Given the description of an element on the screen output the (x, y) to click on. 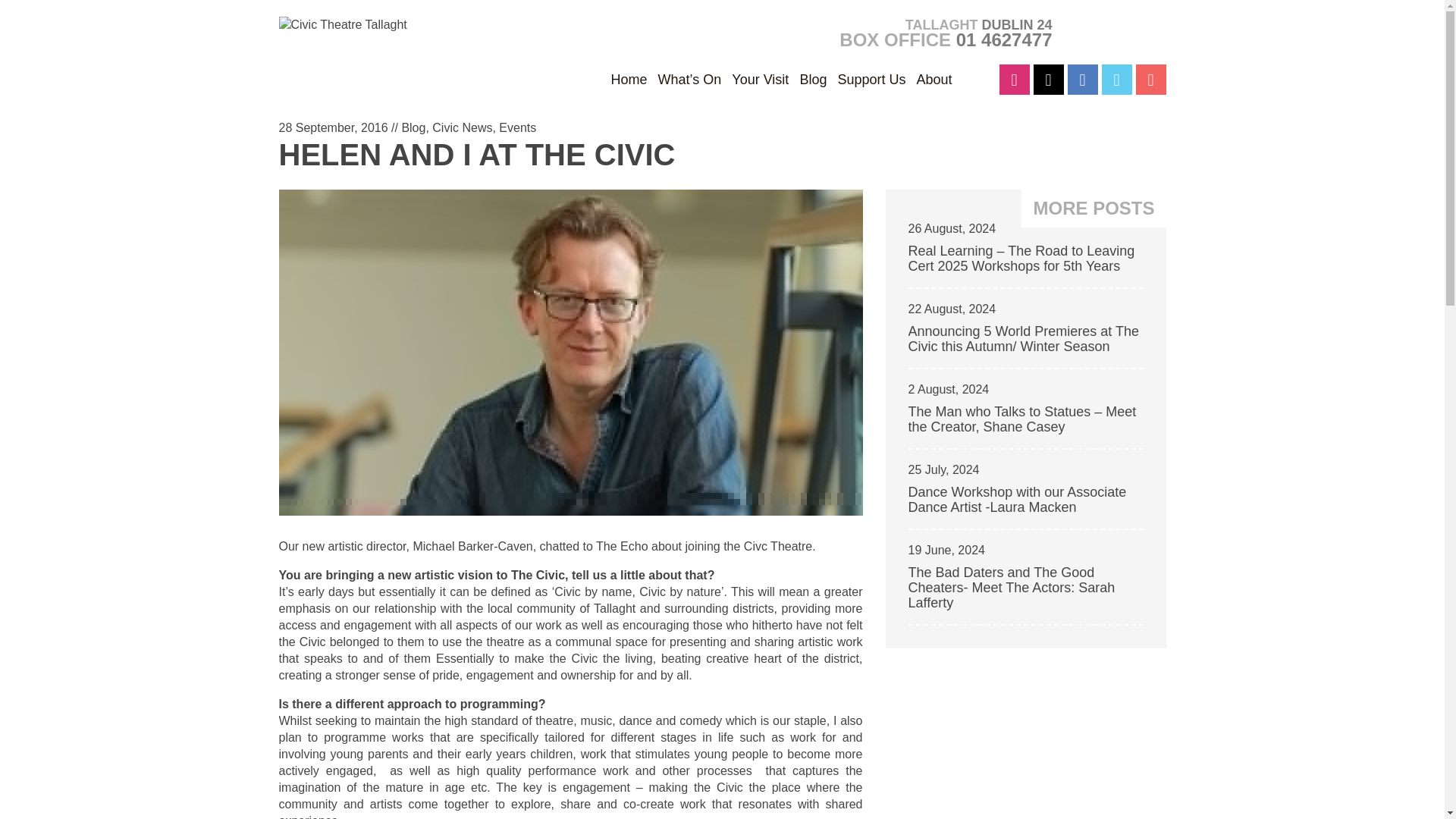
Your Visit  (759, 79)
Helen and I at the Civic (571, 529)
About (933, 79)
Support Us (871, 79)
Helen and I at the Civic (477, 154)
Your Visit (759, 79)
Support Us (871, 79)
Home (628, 79)
About Us (933, 79)
BOOK NOW (1116, 31)
